Given the description of an element on the screen output the (x, y) to click on. 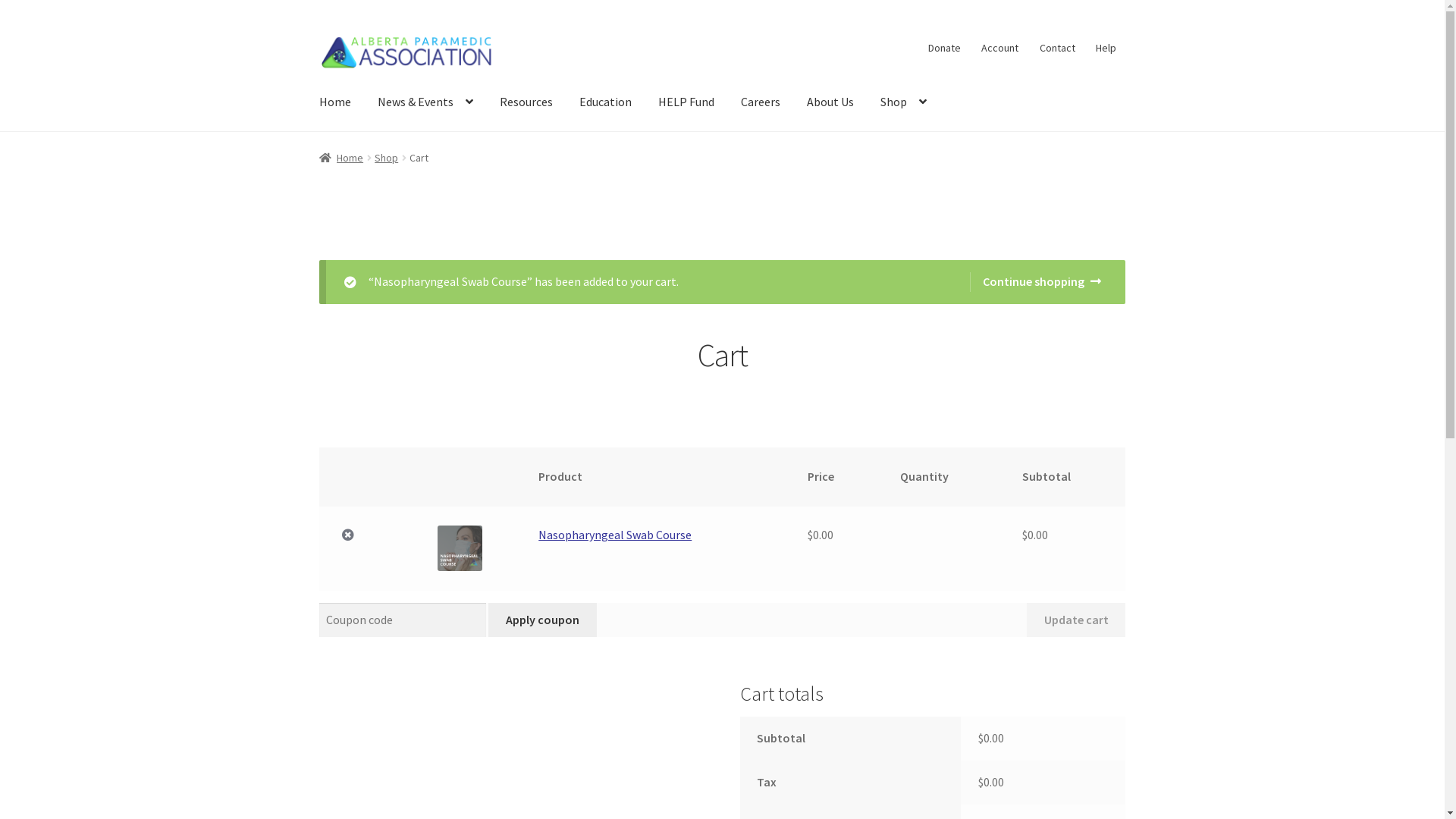
Shop Element type: text (386, 157)
Help Element type: text (1106, 47)
Donate Element type: text (943, 47)
Careers Element type: text (760, 101)
News & Events Element type: text (425, 101)
Home Element type: text (335, 101)
Update cart Element type: text (1075, 619)
Resources Element type: text (525, 101)
About Us Element type: text (830, 101)
Continue shopping Element type: text (1035, 281)
Apply coupon Element type: text (542, 619)
Account Element type: text (1000, 47)
Shop Element type: text (903, 101)
Contact Element type: text (1056, 47)
Education Element type: text (605, 101)
Nasopharyngeal Swab Course Element type: text (614, 534)
HELP Fund Element type: text (686, 101)
Home Element type: text (341, 157)
